Given the description of an element on the screen output the (x, y) to click on. 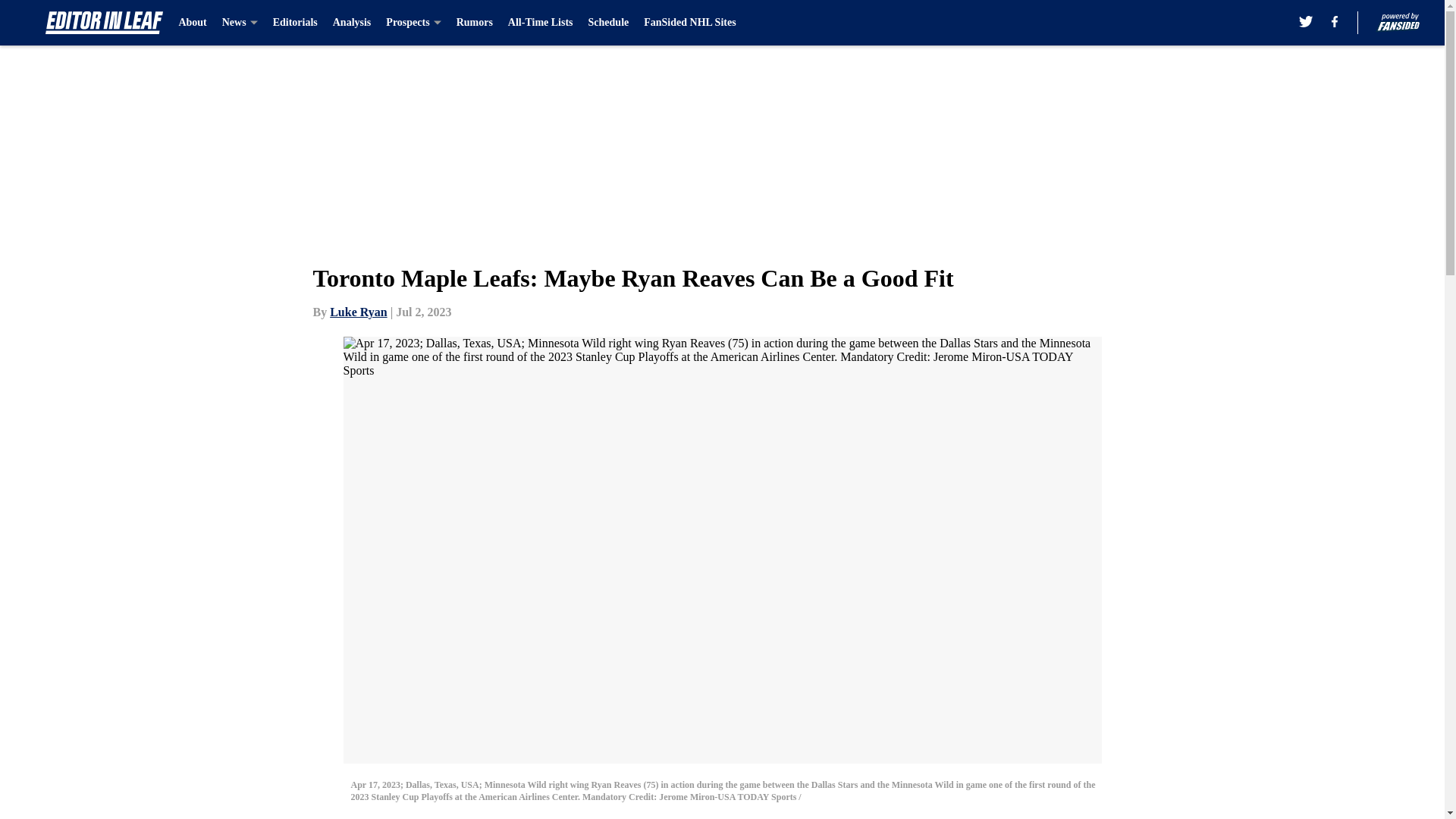
Luke Ryan (358, 311)
Analysis (352, 22)
All-Time Lists (540, 22)
Editorials (295, 22)
Schedule (608, 22)
FanSided NHL Sites (689, 22)
About (191, 22)
Rumors (475, 22)
